Given the description of an element on the screen output the (x, y) to click on. 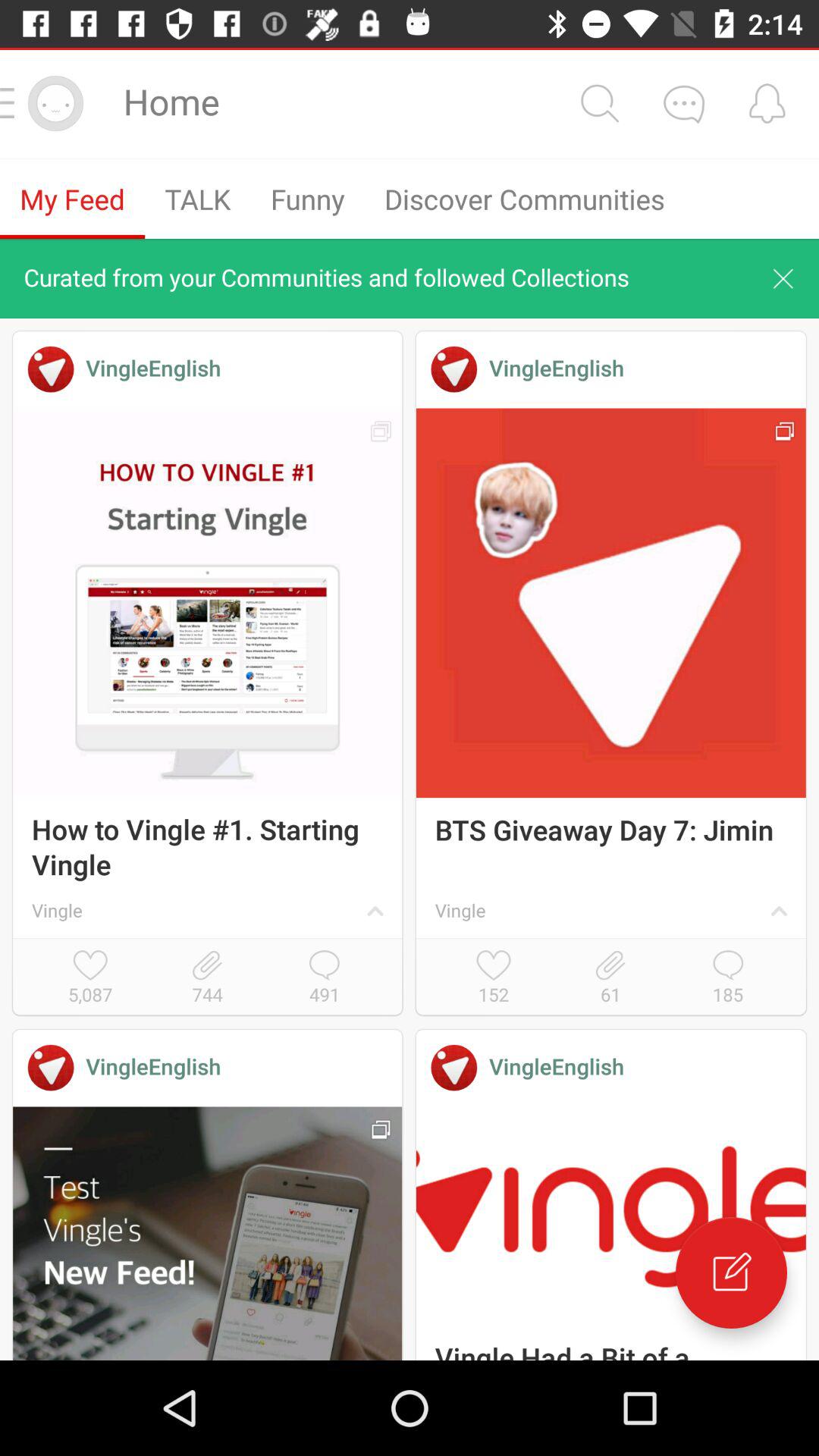
turn on the item next to the 61 item (493, 978)
